Given the description of an element on the screen output the (x, y) to click on. 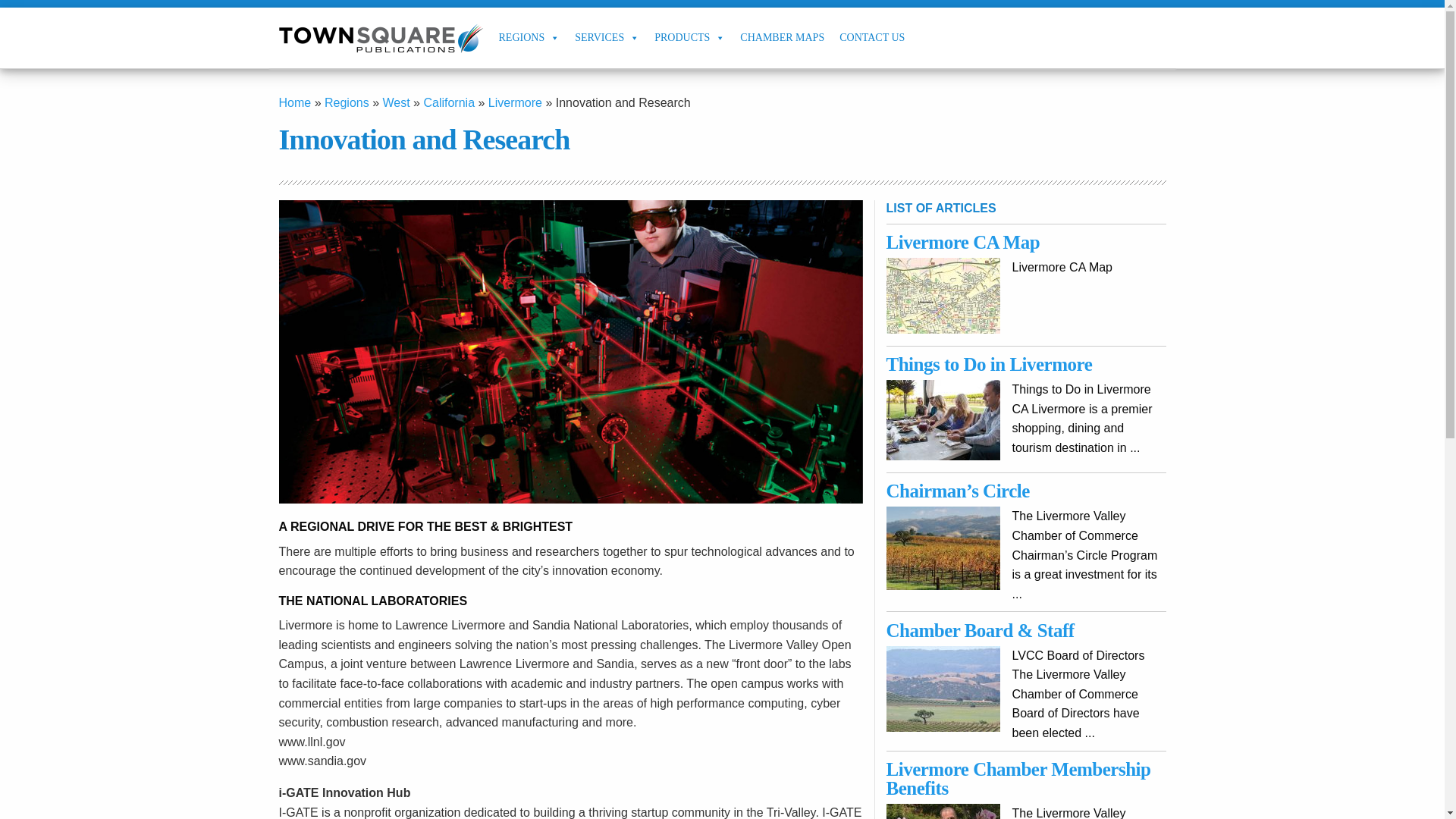
Livermore (514, 102)
SERVICES (606, 37)
Livermore Chamber Membership Benefits (1018, 778)
Things to Do in Livermore (989, 363)
Home (295, 102)
PRODUCTS (689, 37)
REGIONS (529, 37)
West (395, 102)
Regions (346, 102)
California (448, 102)
Livermore CA Map (963, 241)
CONTACT US (871, 37)
CHAMBER MAPS (781, 37)
